Given the description of an element on the screen output the (x, y) to click on. 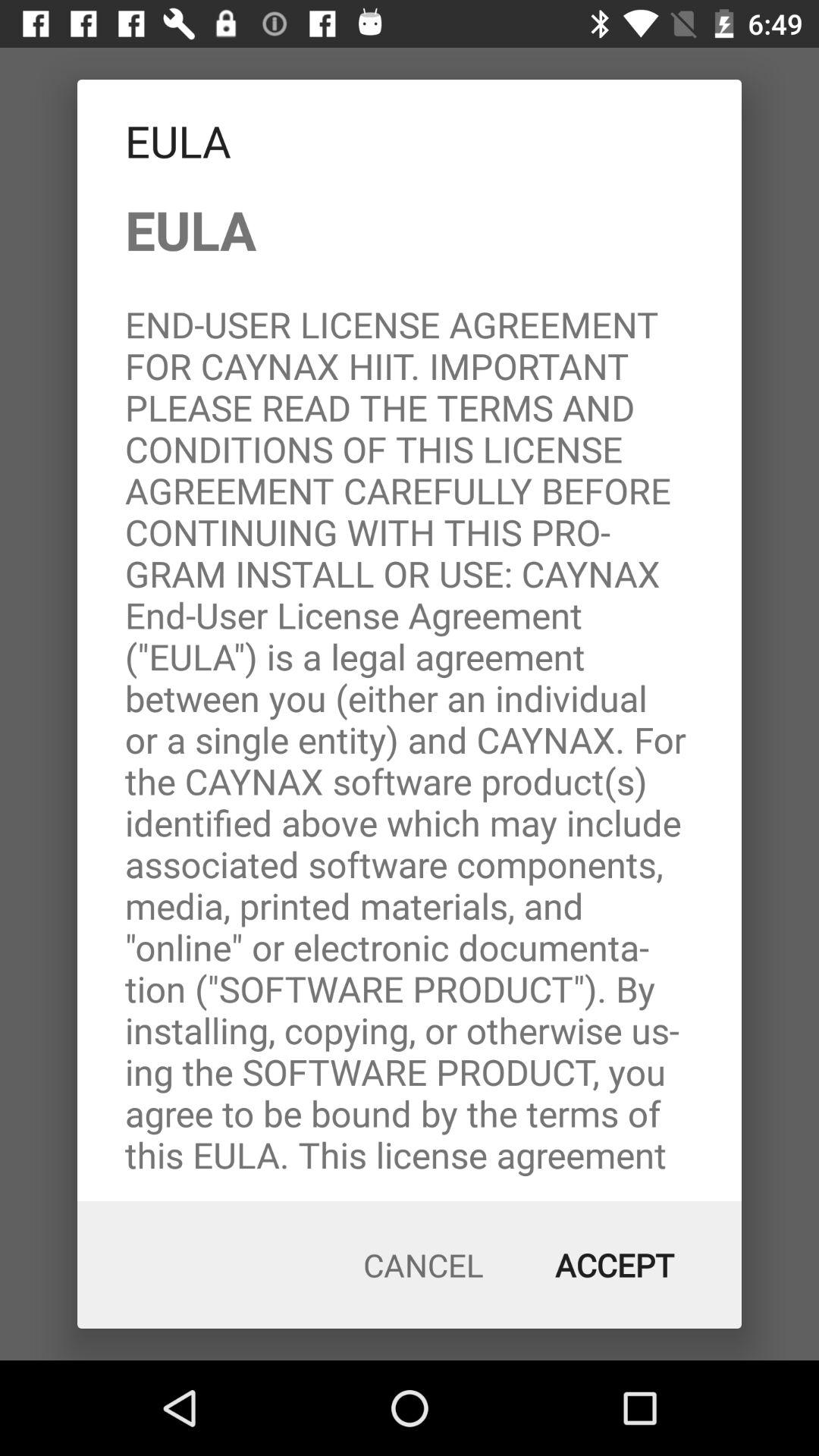
scroll until accept button (613, 1264)
